Given the description of an element on the screen output the (x, y) to click on. 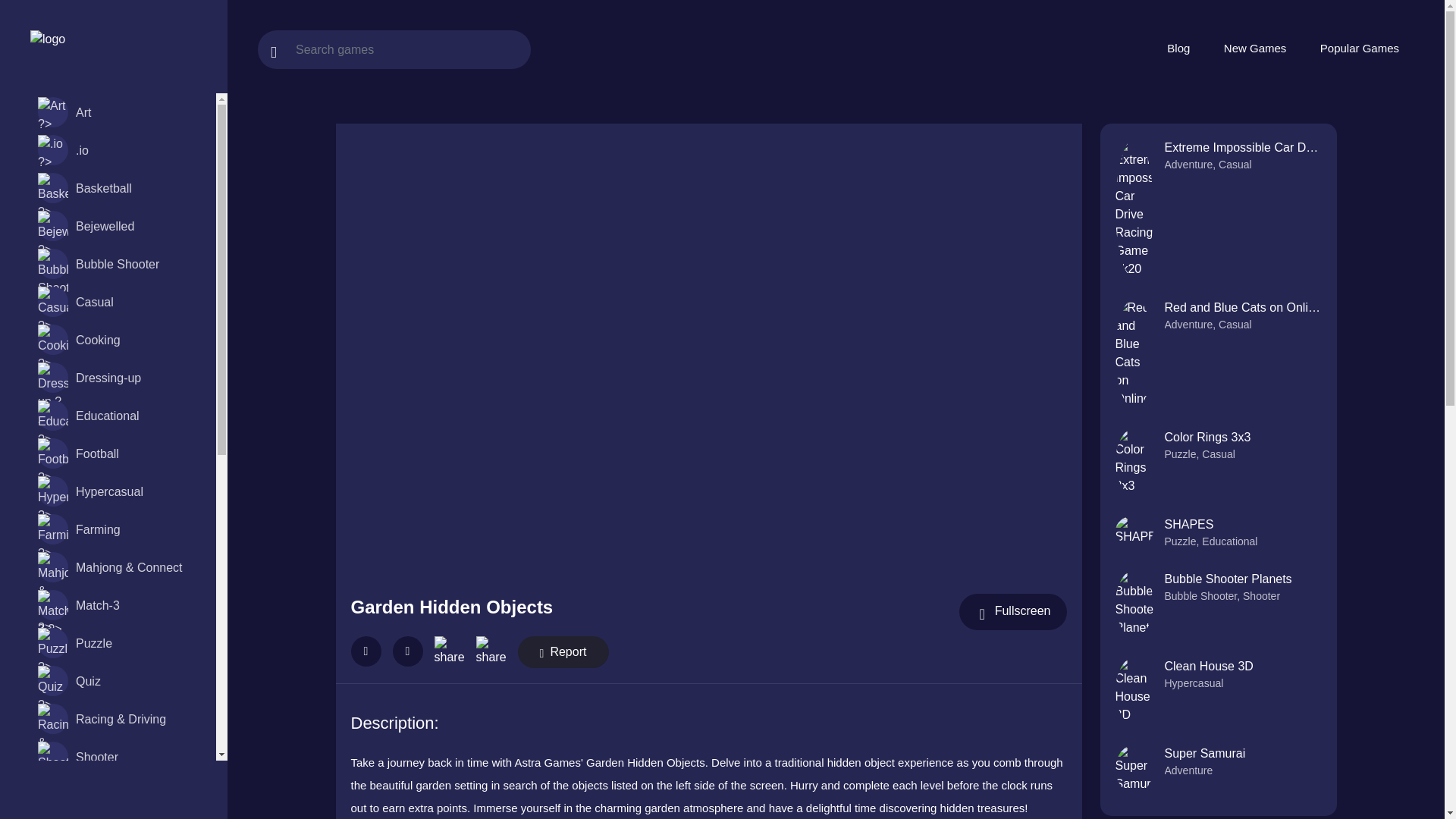
Farming (117, 528)
Hypercasual (117, 491)
Football (117, 453)
Educational (117, 415)
Dressing-up (117, 377)
Casual (117, 301)
Quiz (117, 680)
Basketball (117, 187)
Bubble Shooter (117, 263)
Popular Games (1358, 48)
